Given the description of an element on the screen output the (x, y) to click on. 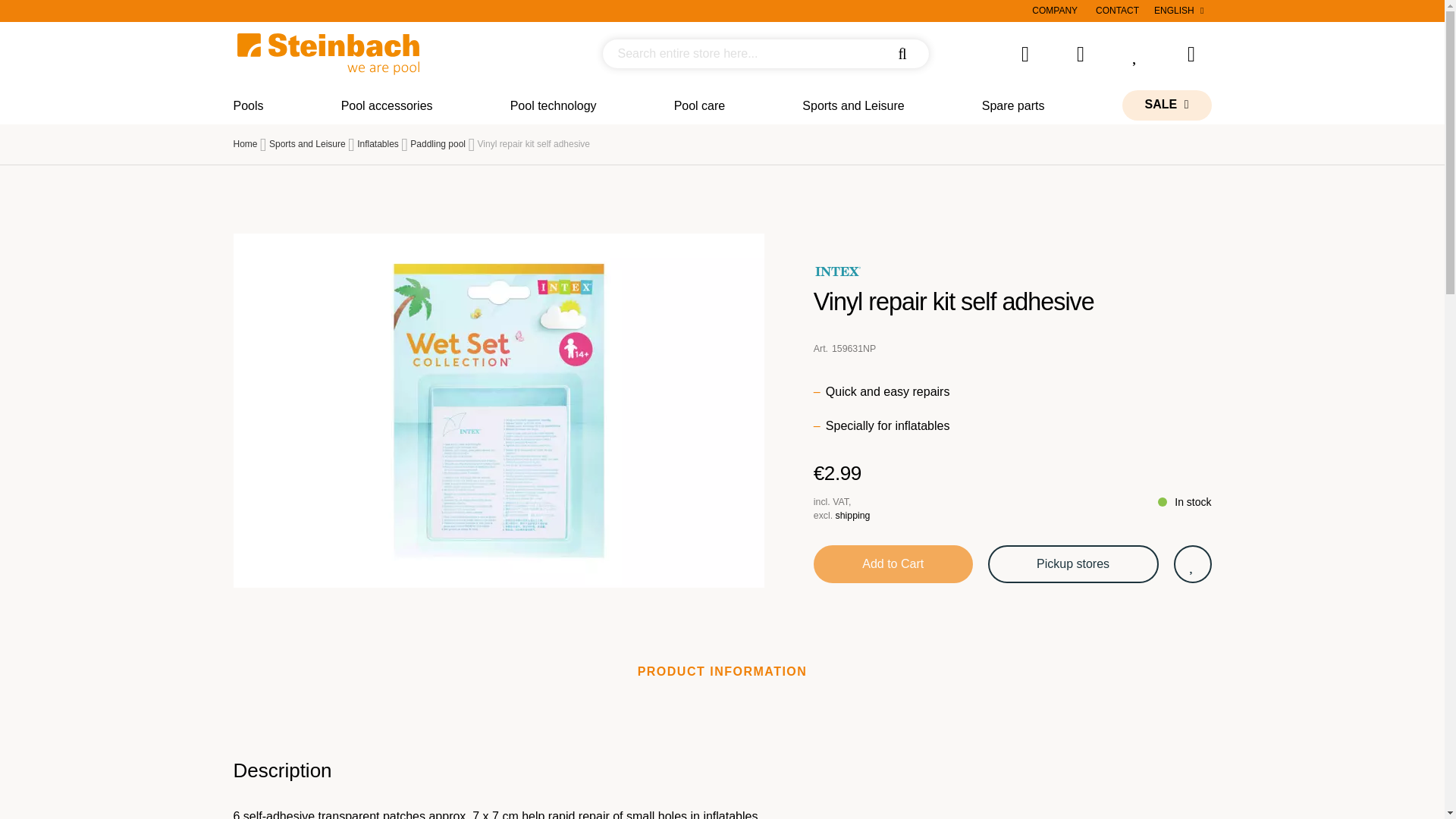
CONTACT (1117, 11)
Availability (1184, 502)
Go to Home Page (244, 143)
Pool accessories (386, 105)
COMPANY (1054, 11)
